Given the description of an element on the screen output the (x, y) to click on. 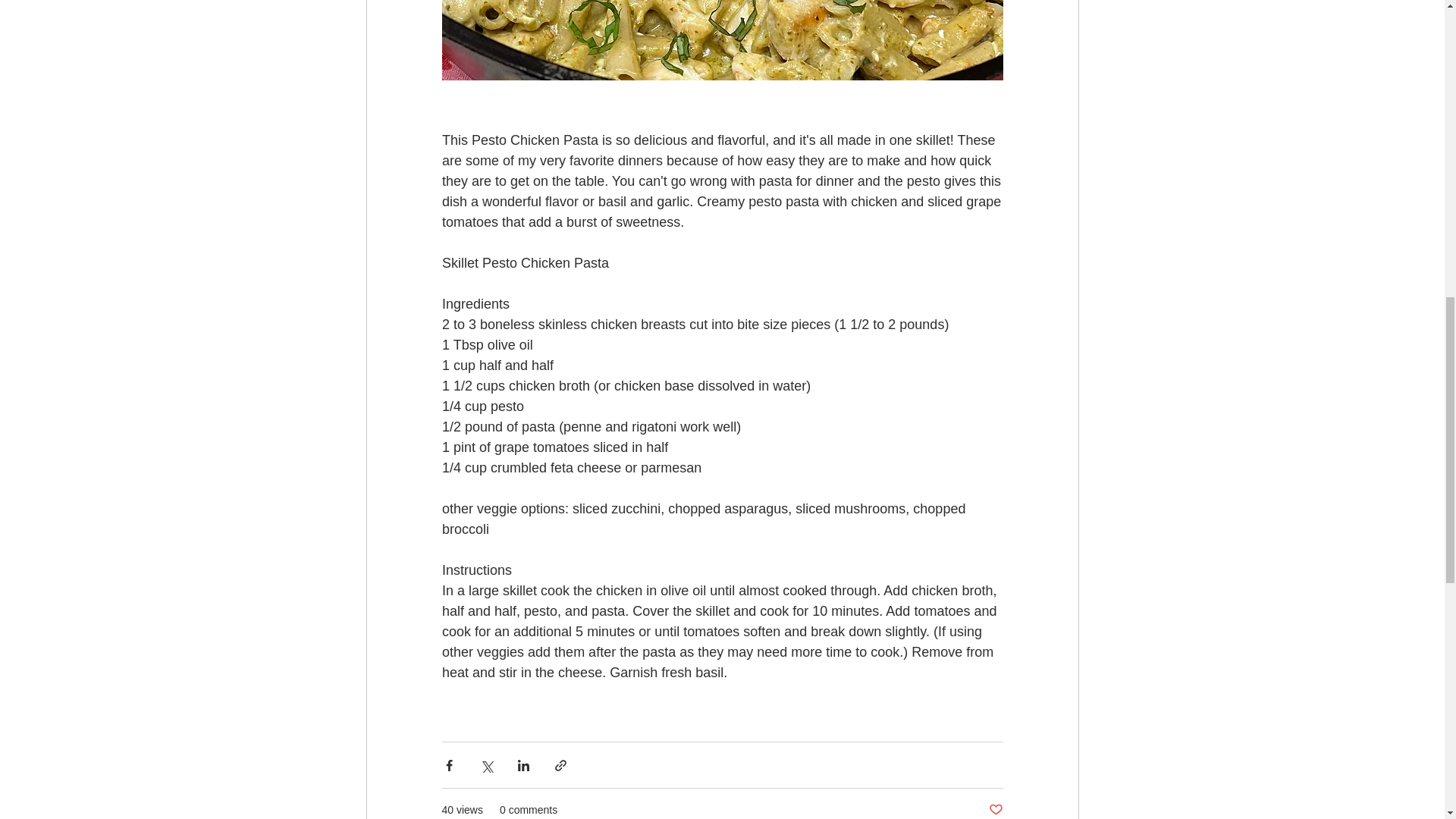
Post not marked as liked (995, 810)
